Given the description of an element on the screen output the (x, y) to click on. 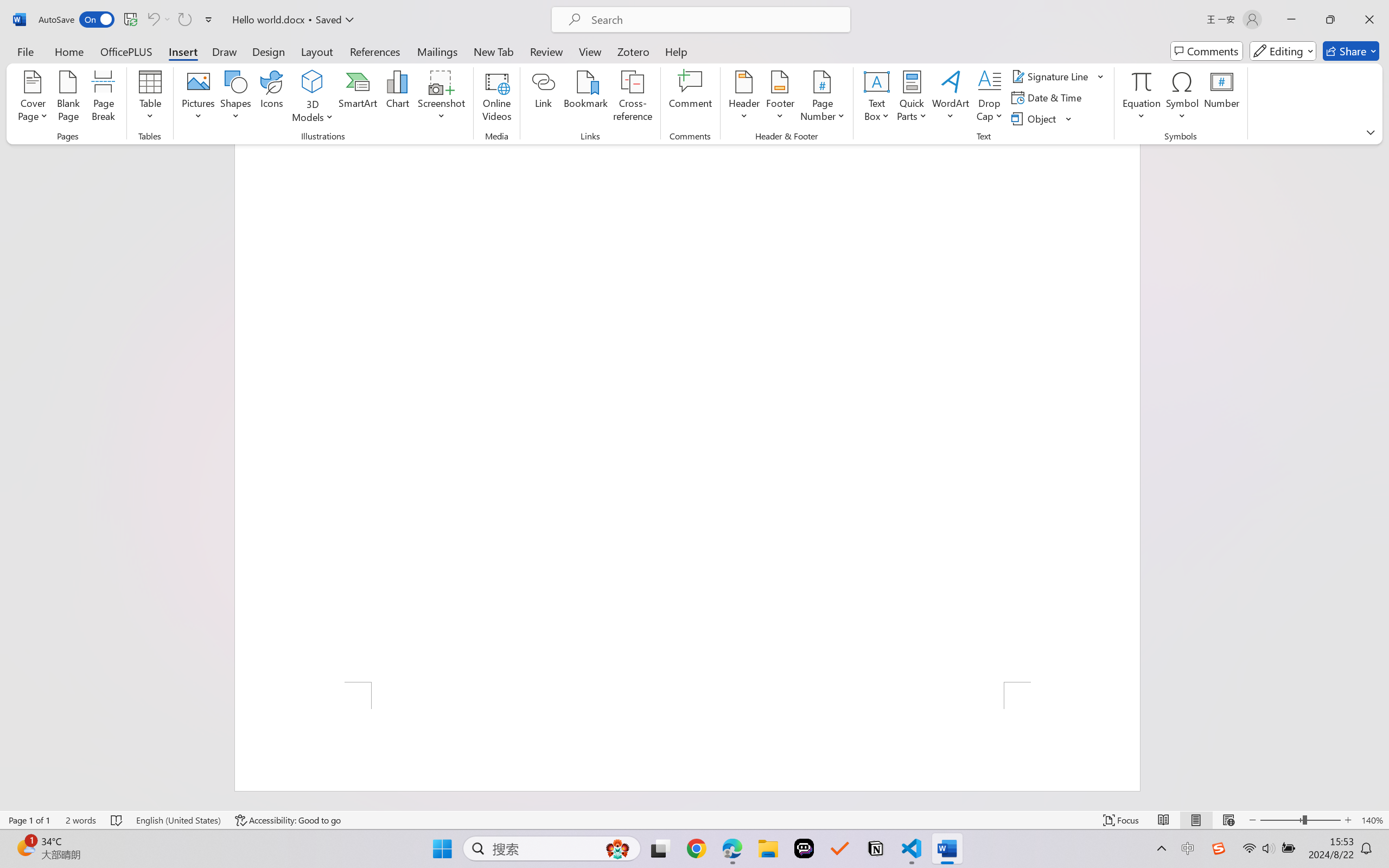
Home (69, 51)
Insert (182, 51)
Class: Image (1218, 847)
Can't Undo (158, 19)
AutomationID: BadgeAnchorLargeTicker (24, 847)
Notion (875, 848)
Can't Undo (152, 19)
